Given the description of an element on the screen output the (x, y) to click on. 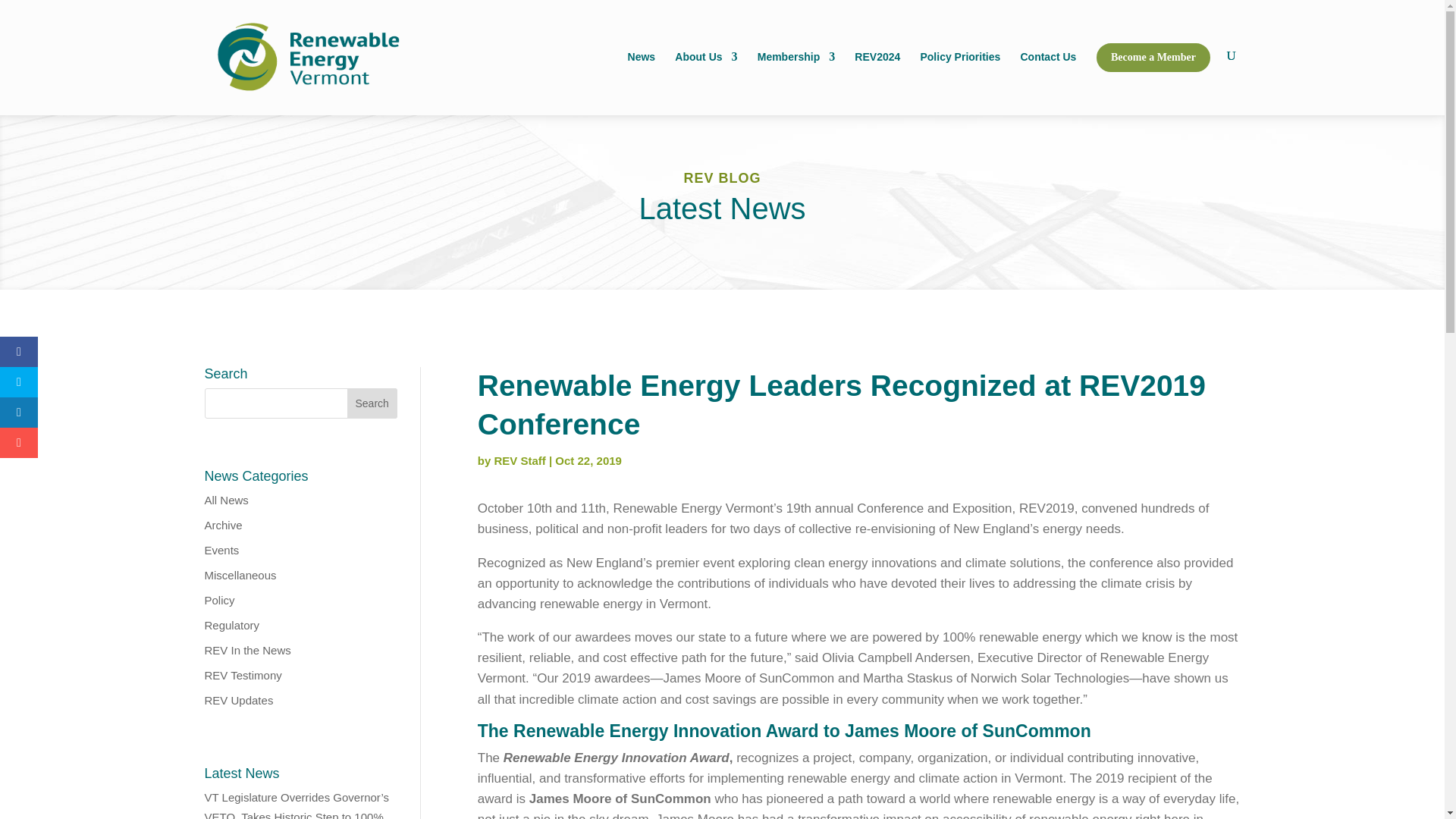
Search (372, 403)
Membership (795, 81)
Contact Us (1047, 81)
Policy Priorities (960, 81)
Become a Member (1153, 79)
Search (372, 403)
All News (226, 499)
About Us (705, 81)
Posts by REV Staff (518, 460)
